Given the description of an element on the screen output the (x, y) to click on. 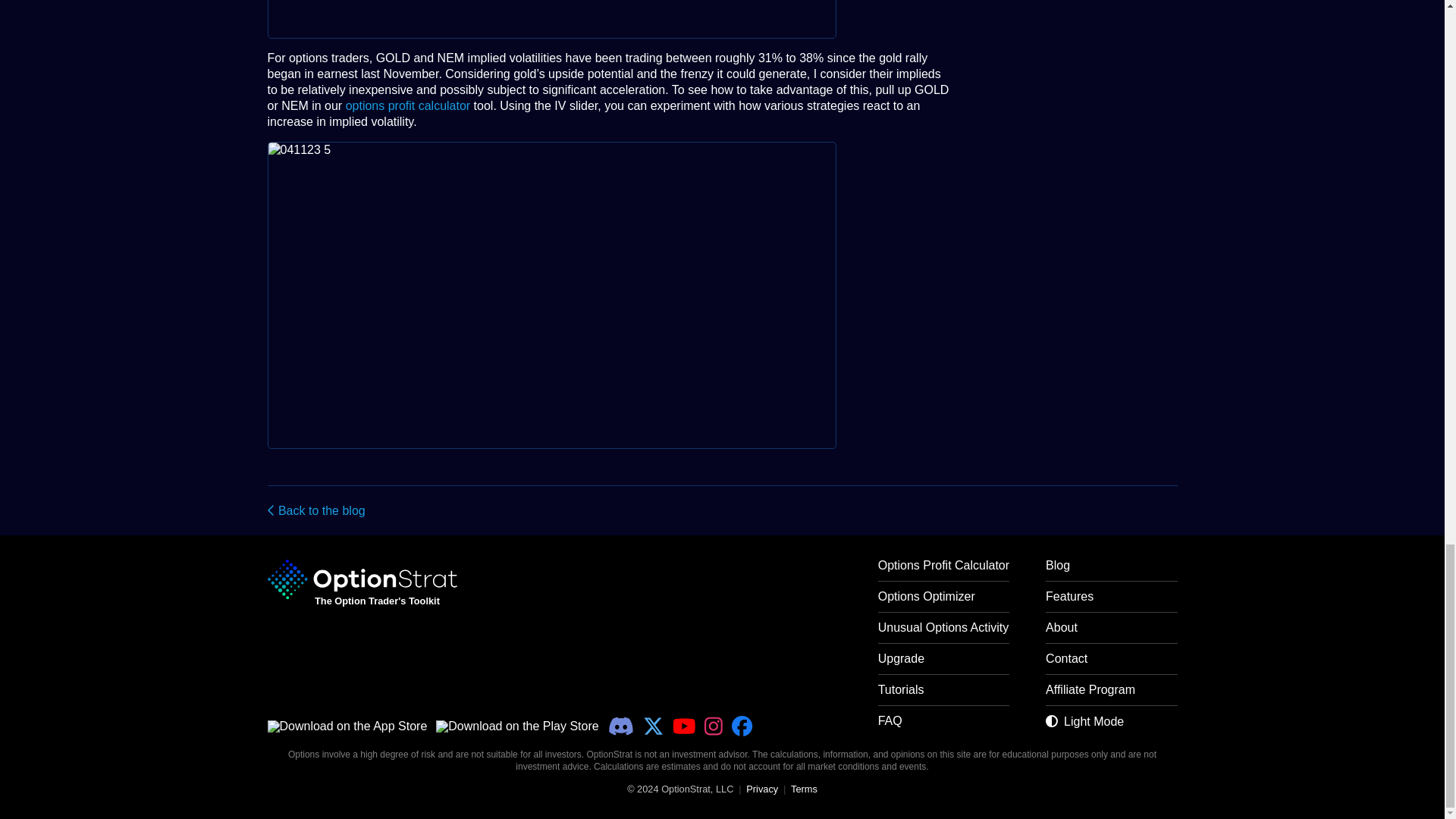
Frequently Asked Questions (943, 725)
Follow us on X (653, 726)
Follow us on Facebook (742, 726)
Join our Discord chat (620, 726)
View our YouTube channel (683, 726)
